Given the description of an element on the screen output the (x, y) to click on. 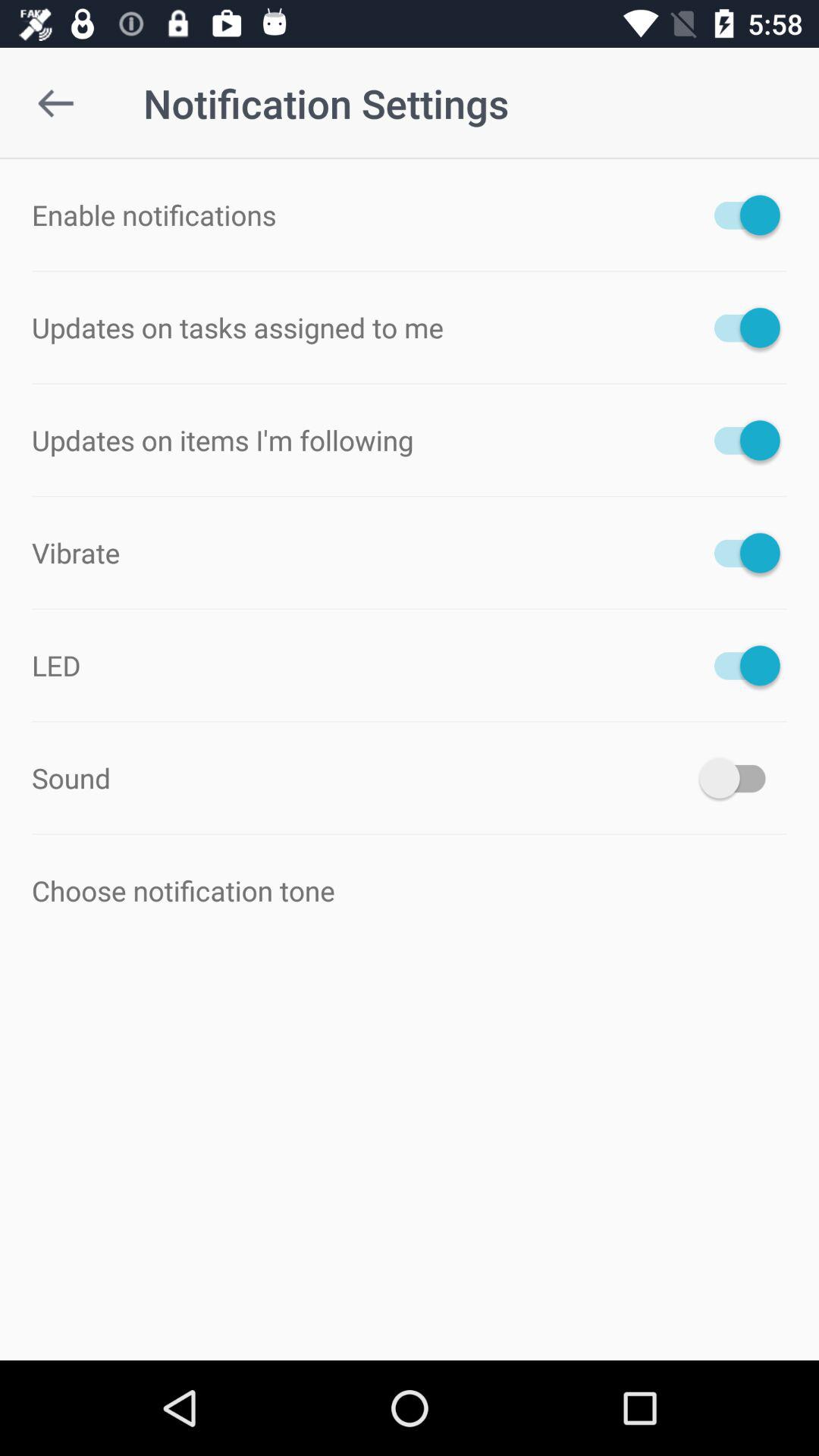
notification on off option (739, 665)
